Given the description of an element on the screen output the (x, y) to click on. 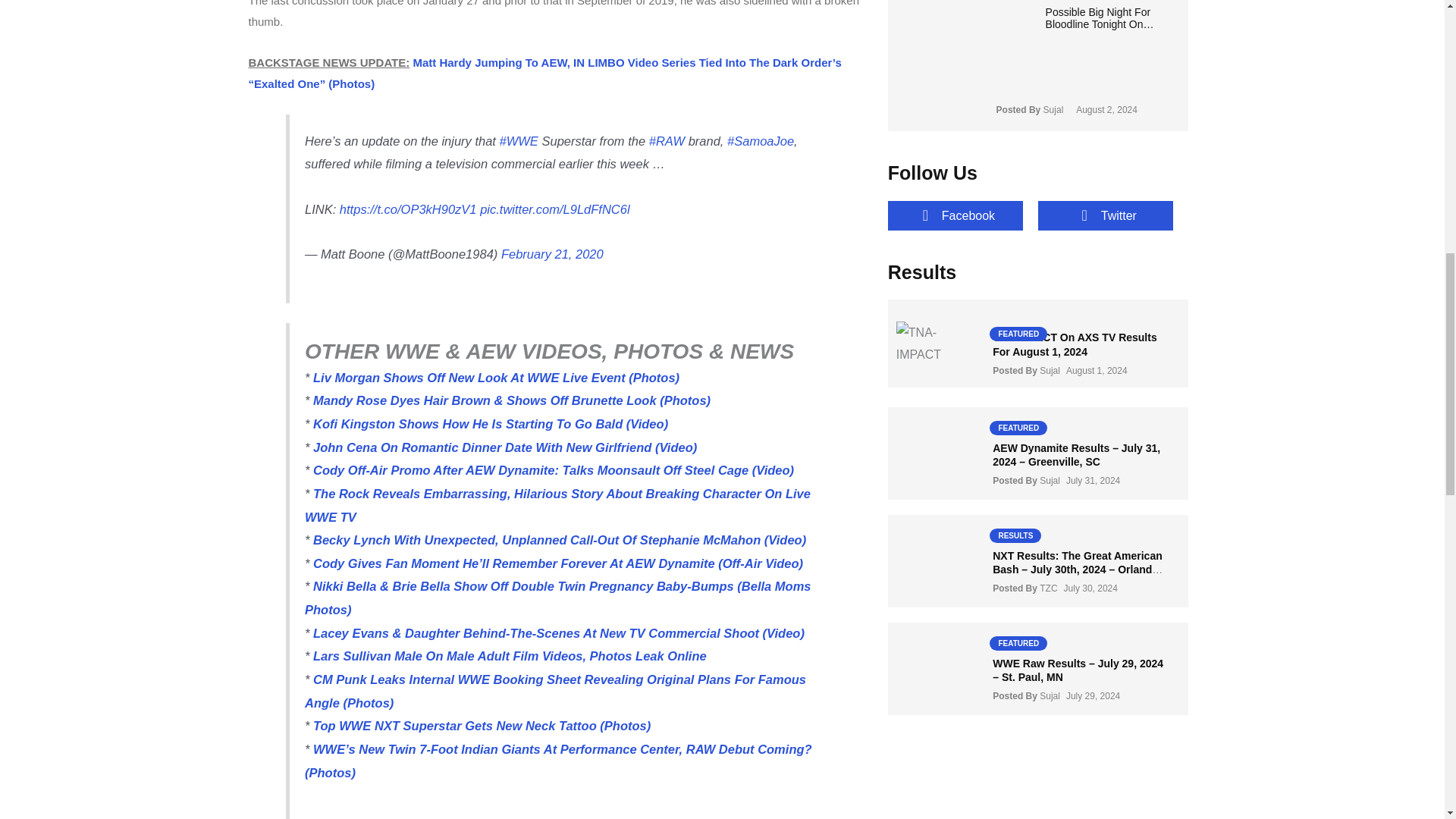
Posts by Sujal (1049, 696)
TNA IMPACT On AXS TV Results For August 1, 2024 (1074, 344)
Posts by Sujal (1049, 370)
February 21, 2020 (552, 254)
Posts by TZC (1048, 588)
Posts by Sujal (1049, 480)
